Given the description of an element on the screen output the (x, y) to click on. 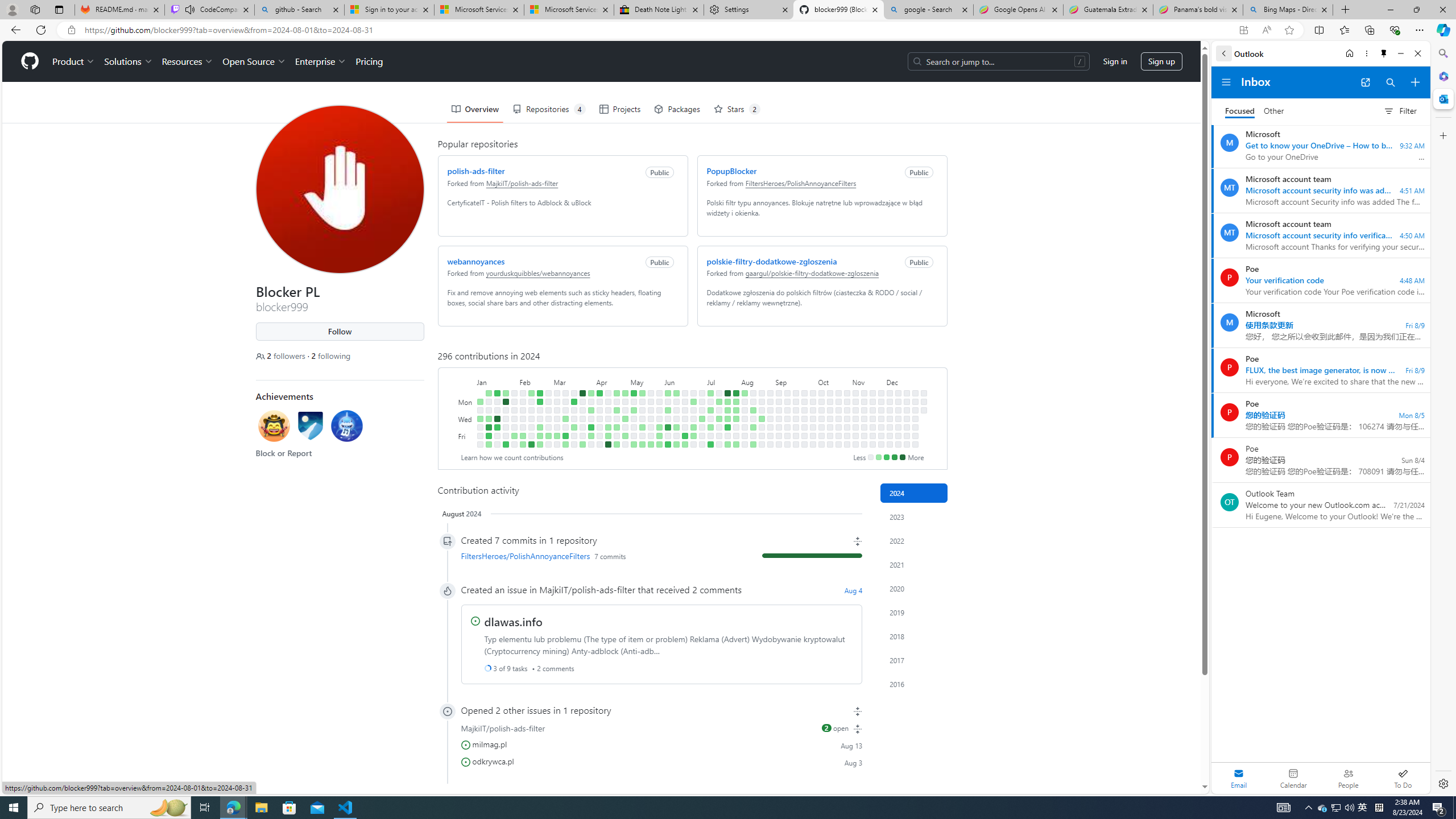
No contributions on October 1st. (812, 410)
Day of Week (465, 380)
PopupBlocker (731, 170)
No contributions on August 31st. (770, 444)
No contributions on June 14th. (675, 435)
No contributions on December 1st. (889, 392)
No contributions on November 25th. (880, 401)
Contribution activity in 2018 (913, 636)
No contributions on July 26th. (726, 435)
1 contribution on May 7th. (633, 410)
1 contribution on May 31st. (658, 435)
No contributions on December 14th. (897, 444)
No contributions on April 14th. (607, 392)
Stars 2 (737, 108)
No contributions on June 23rd. (693, 392)
